Given the description of an element on the screen output the (x, y) to click on. 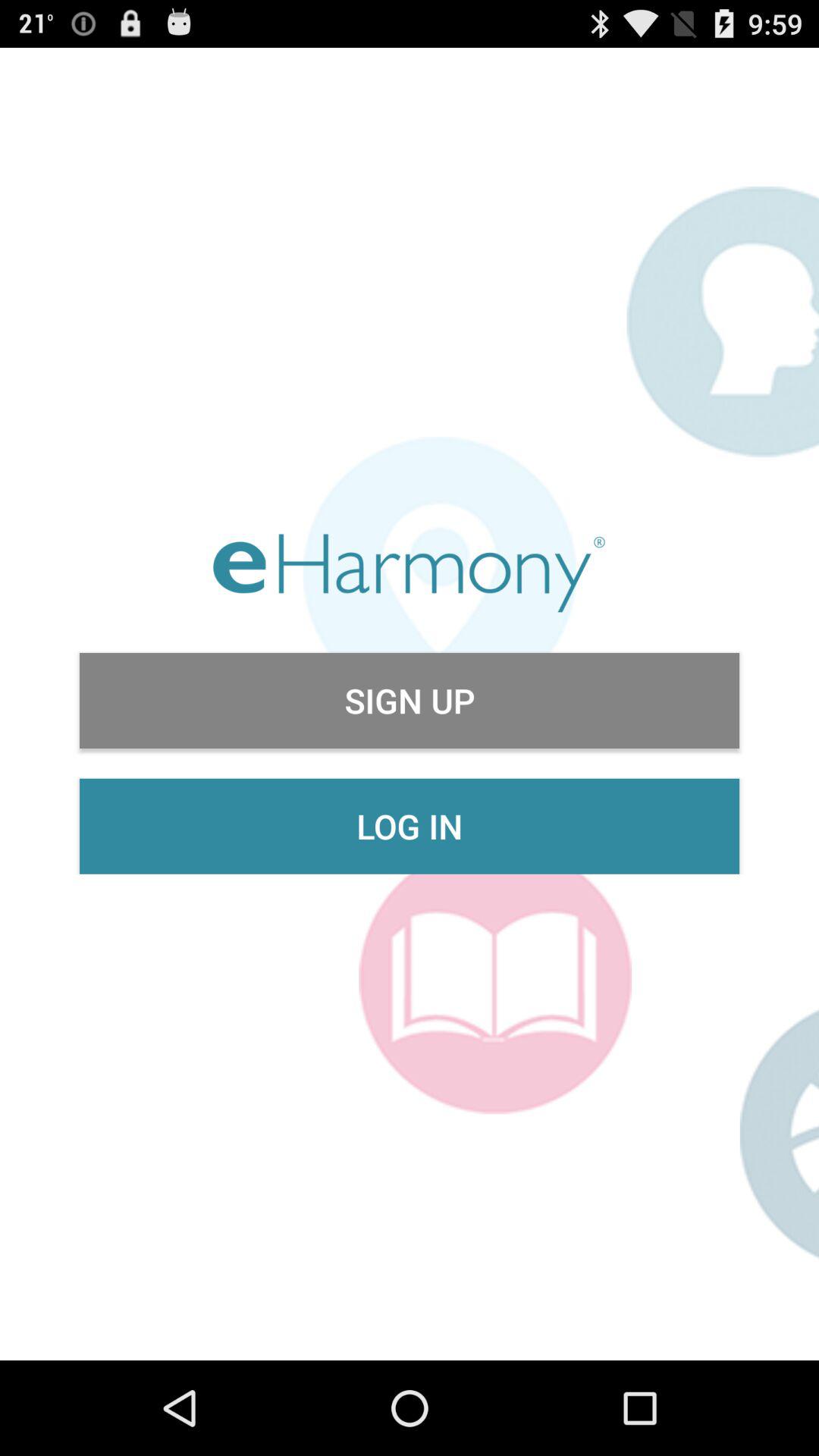
open the item below sign up (409, 826)
